Given the description of an element on the screen output the (x, y) to click on. 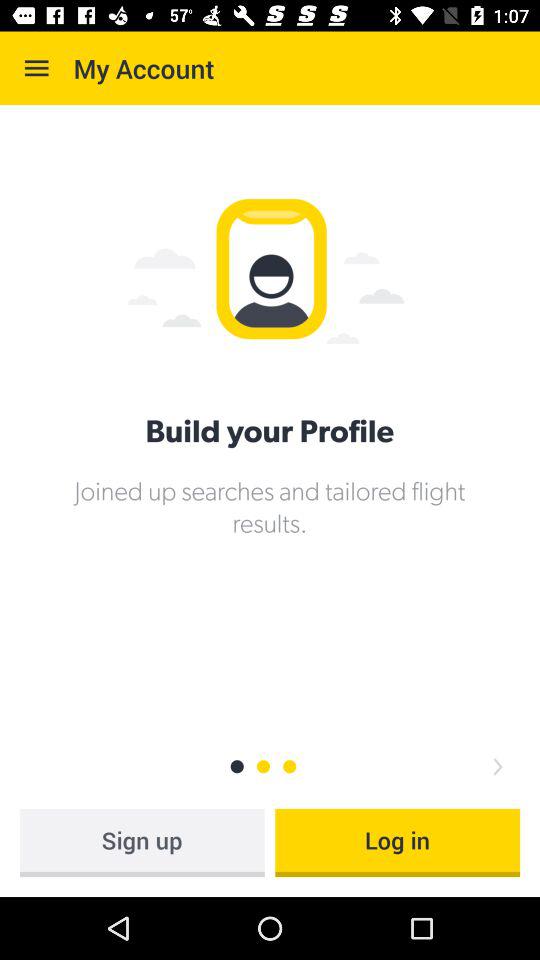
click right arrow (498, 766)
